Given the description of an element on the screen output the (x, y) to click on. 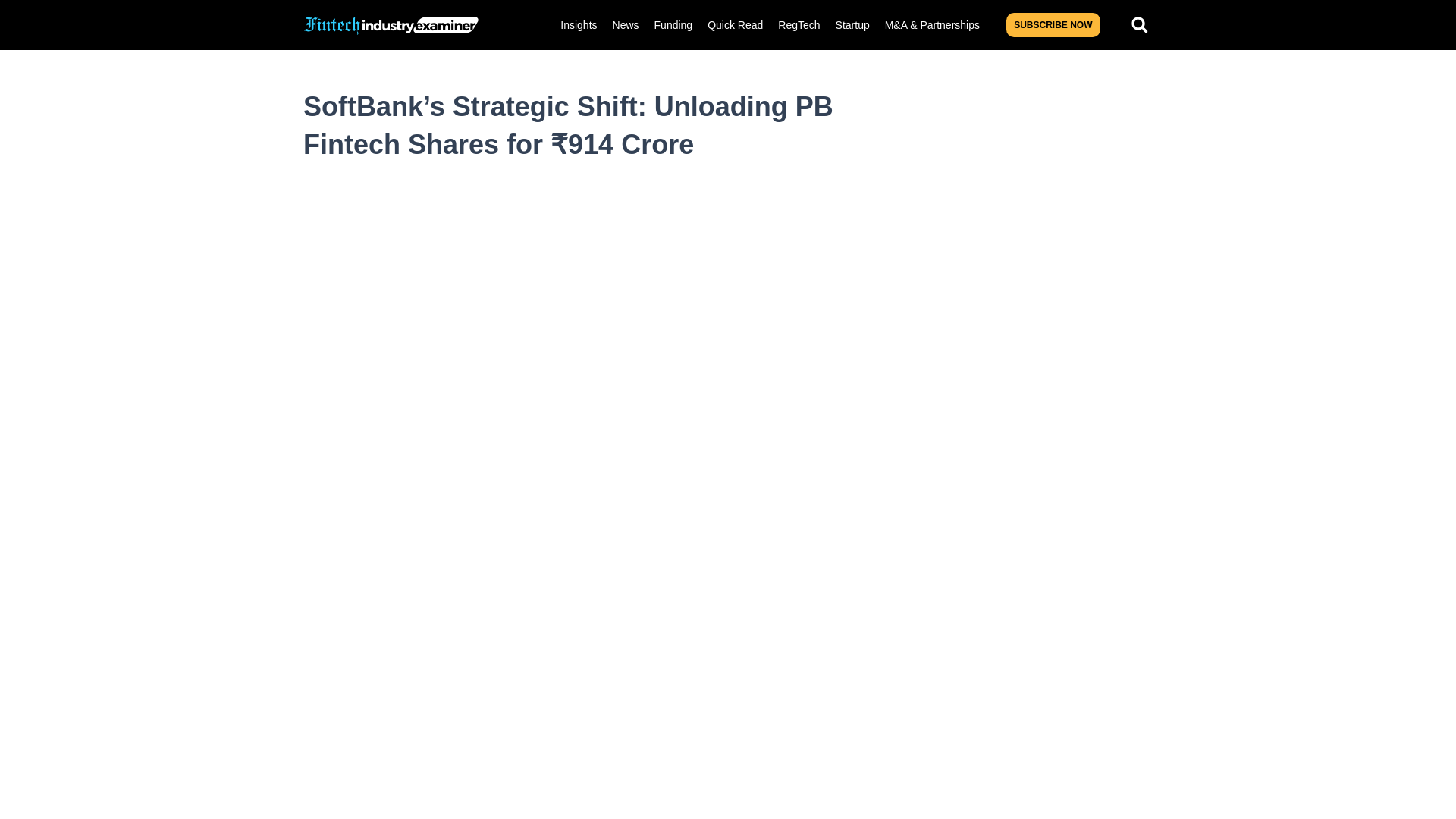
Funding (673, 24)
News (625, 24)
Insights (578, 24)
SUBSCRIBE NOW (1052, 24)
Startup (852, 24)
RegTech (798, 24)
Quick Read (735, 24)
